Given the description of an element on the screen output the (x, y) to click on. 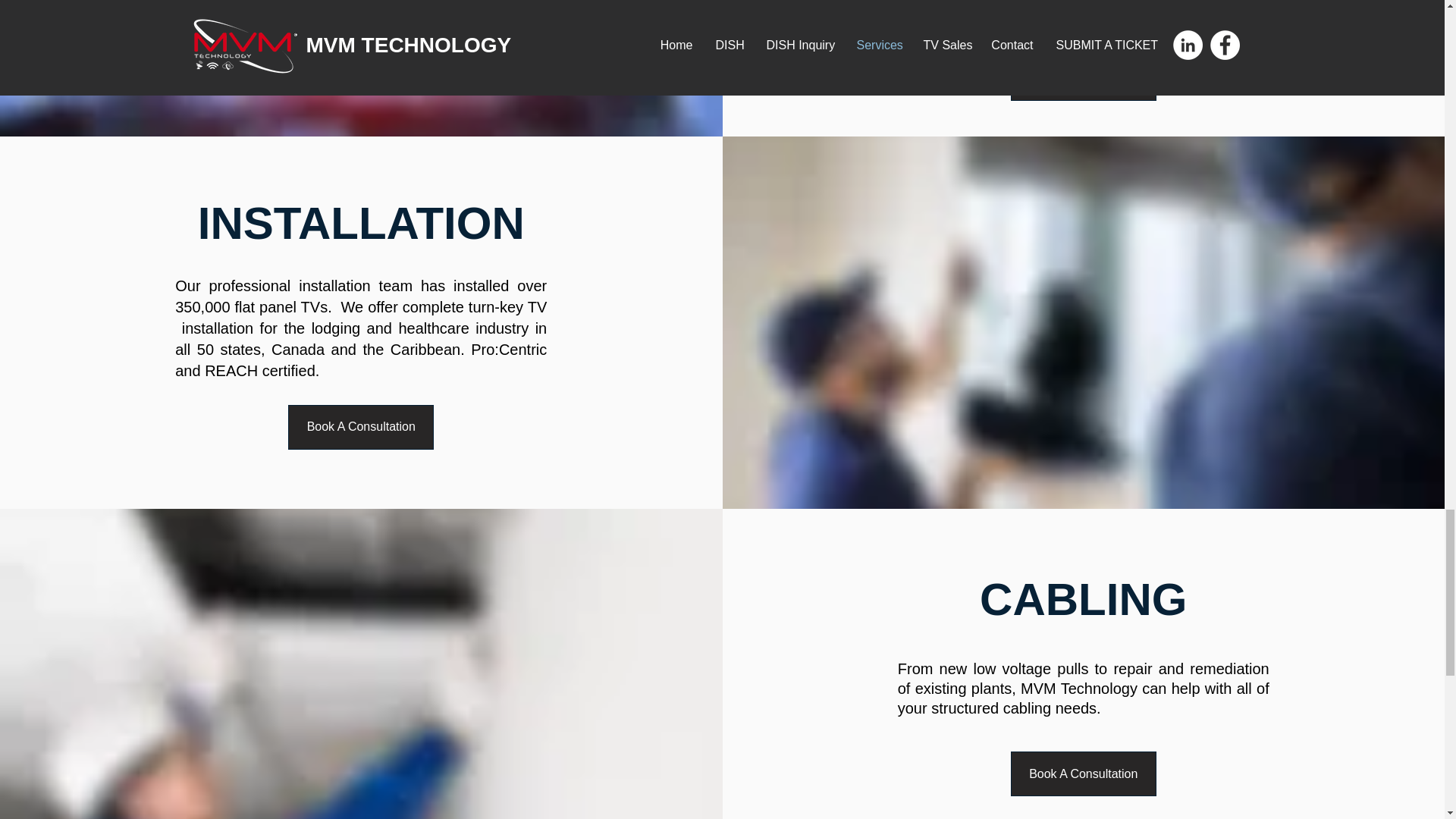
Book A Consultation (1083, 773)
Book A Consultation (360, 426)
Book A Consultation (1083, 78)
